Given the description of an element on the screen output the (x, y) to click on. 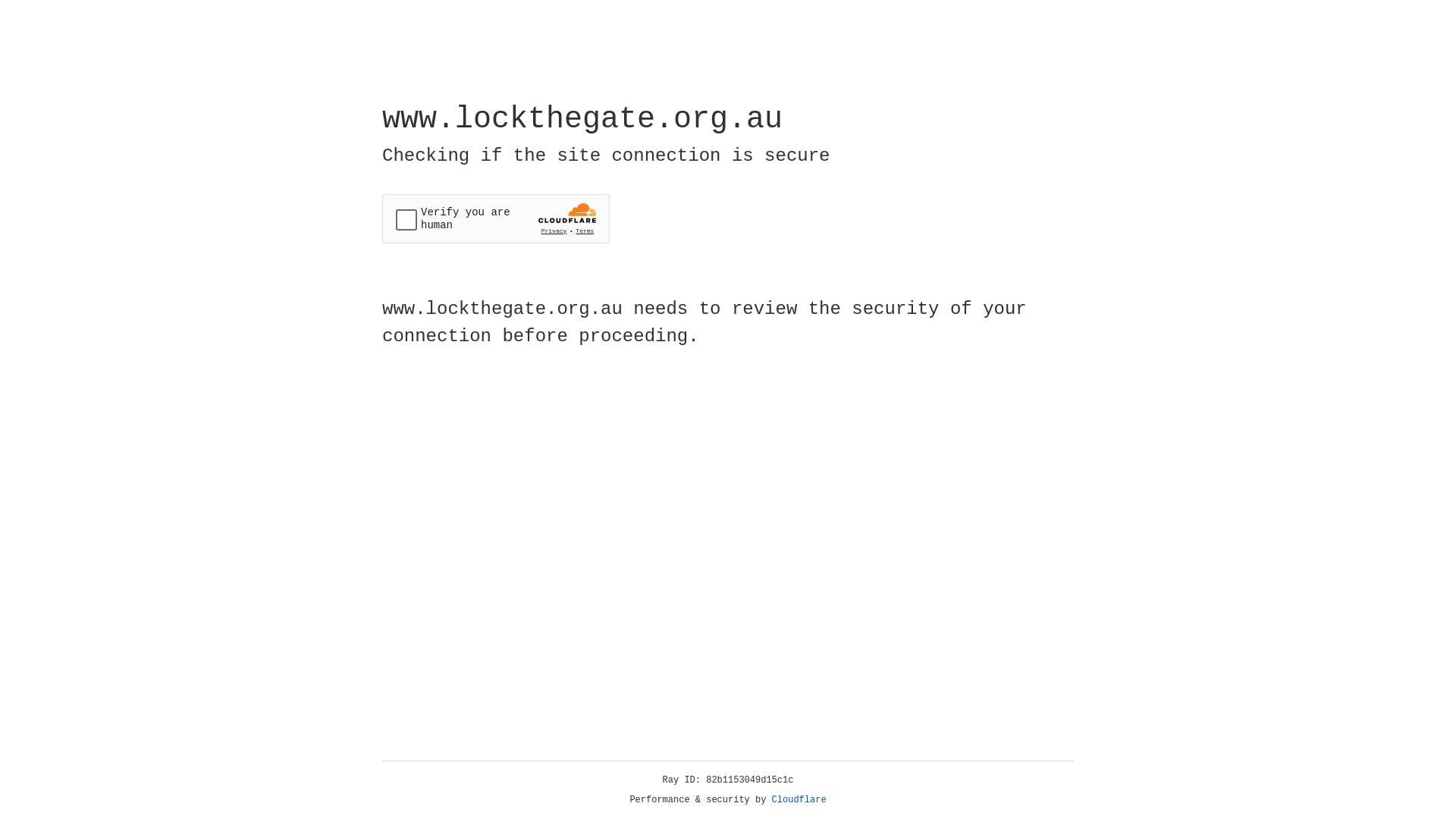
Cloudflare Element type: text (798, 799)
Widget containing a Cloudflare security challenge Element type: hover (495, 218)
